Given the description of an element on the screen output the (x, y) to click on. 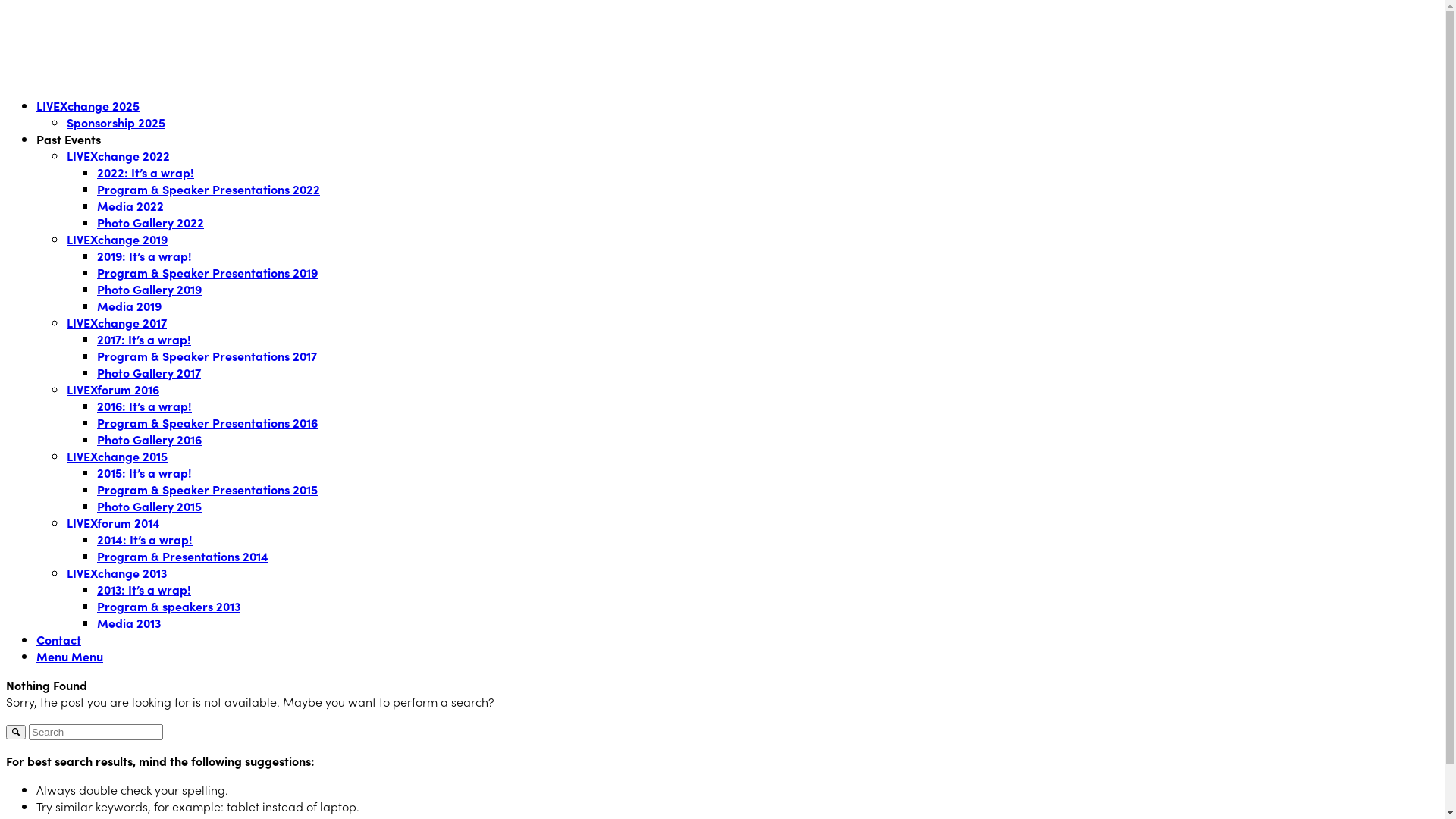
LIVEXchange 2019 Element type: text (116, 238)
Photo Gallery 2016 Element type: text (149, 438)
Photo Gallery 2015 Element type: text (149, 505)
Program & Speaker Presentations 2017 Element type: text (206, 355)
Photo Gallery 2019 Element type: text (149, 288)
Menu Menu Element type: text (69, 655)
LIVEXchange 2022 Element type: text (117, 155)
LIVEXchange 2017 Element type: text (116, 321)
Program & speakers 2013 Element type: text (168, 605)
Media 2019 Element type: text (129, 305)
Program & Speaker Presentations 2022 Element type: text (208, 188)
Sponsorship 2025 Element type: text (115, 121)
Photo Gallery 2017 Element type: text (148, 372)
Photo Gallery 2022 Element type: text (150, 221)
LIVEXforum 2014 Element type: text (113, 522)
Program & Speaker Presentations 2019 Element type: text (207, 271)
Contact Element type: text (58, 638)
Past Events Element type: text (68, 138)
LIVEXforum 2016 Element type: text (112, 388)
LIVEXchange 2015 Element type: text (116, 455)
LIVEXchange 2025 Element type: text (87, 105)
Media 2013 Element type: text (128, 622)
Program & Speaker Presentations 2016 Element type: text (207, 422)
Media 2022 Element type: text (130, 205)
Program & Speaker Presentations 2015 Element type: text (207, 488)
LIVEXchange 2013 Element type: text (116, 572)
Program & Presentations 2014 Element type: text (182, 555)
